Given the description of an element on the screen output the (x, y) to click on. 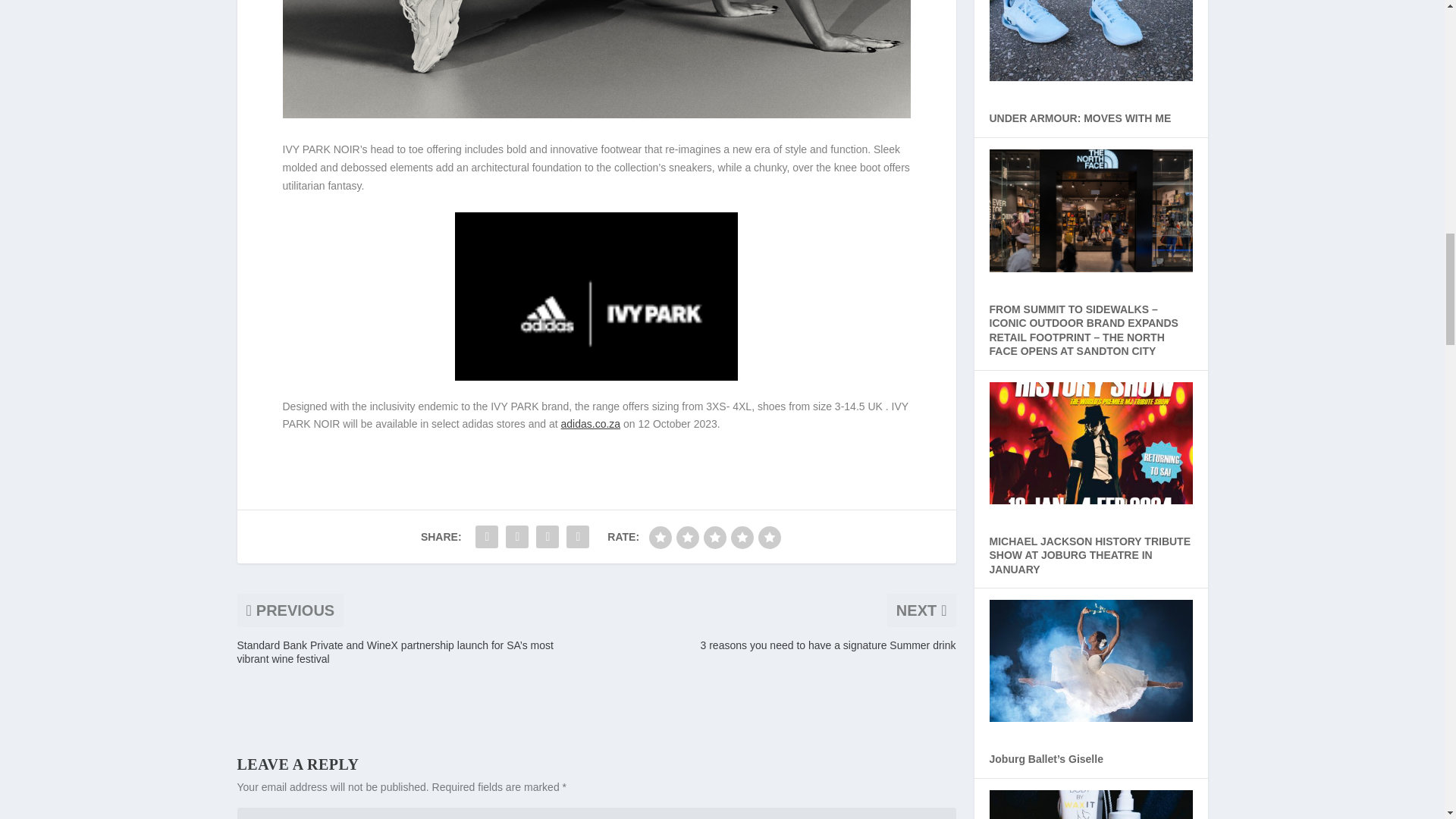
gorgeous (769, 537)
good (742, 537)
bad (660, 537)
regular (714, 537)
poor (687, 537)
adidas.co.za (590, 423)
